Given the description of an element on the screen output the (x, y) to click on. 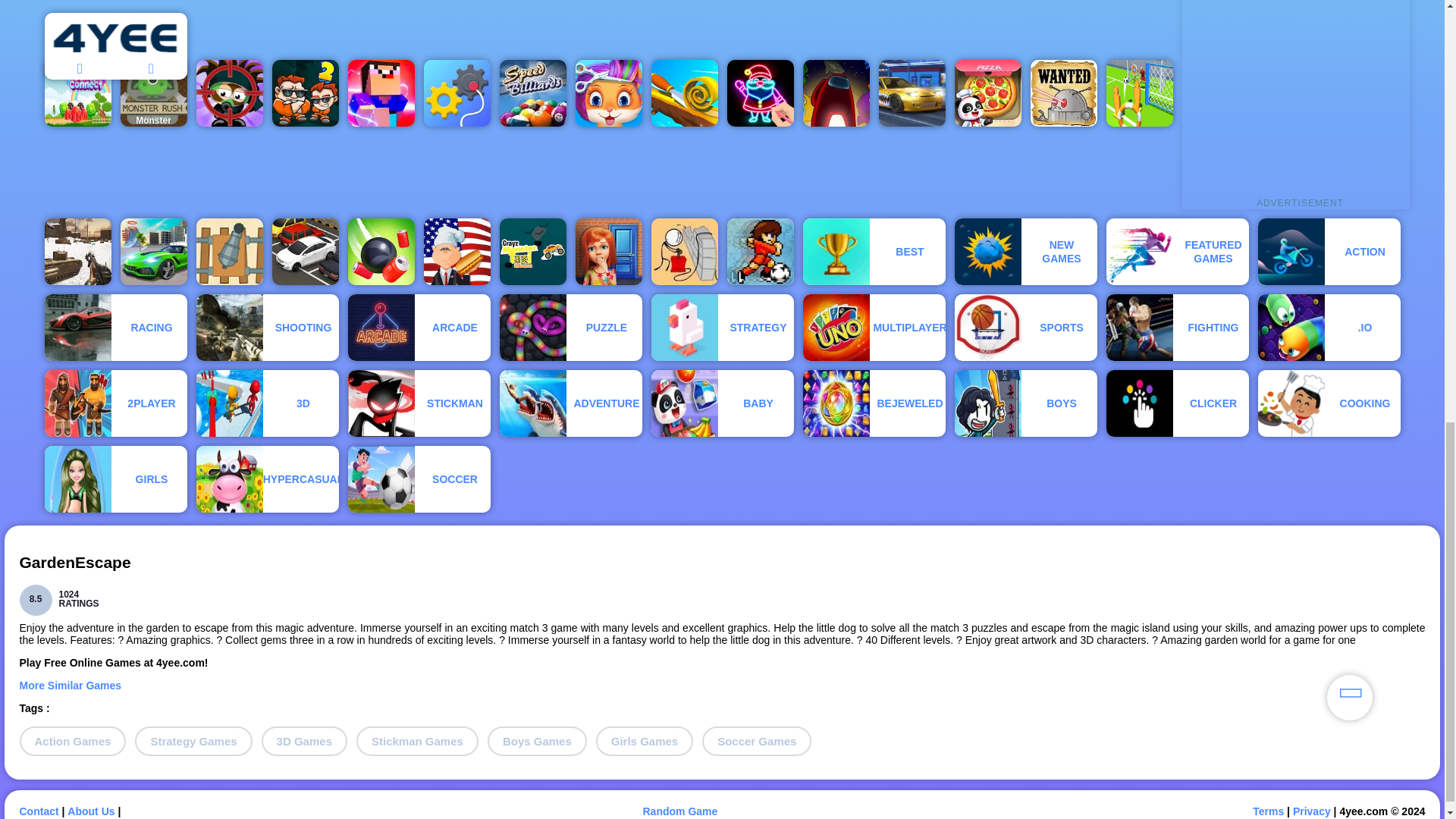
Advertisement (1294, 99)
